Given the description of an element on the screen output the (x, y) to click on. 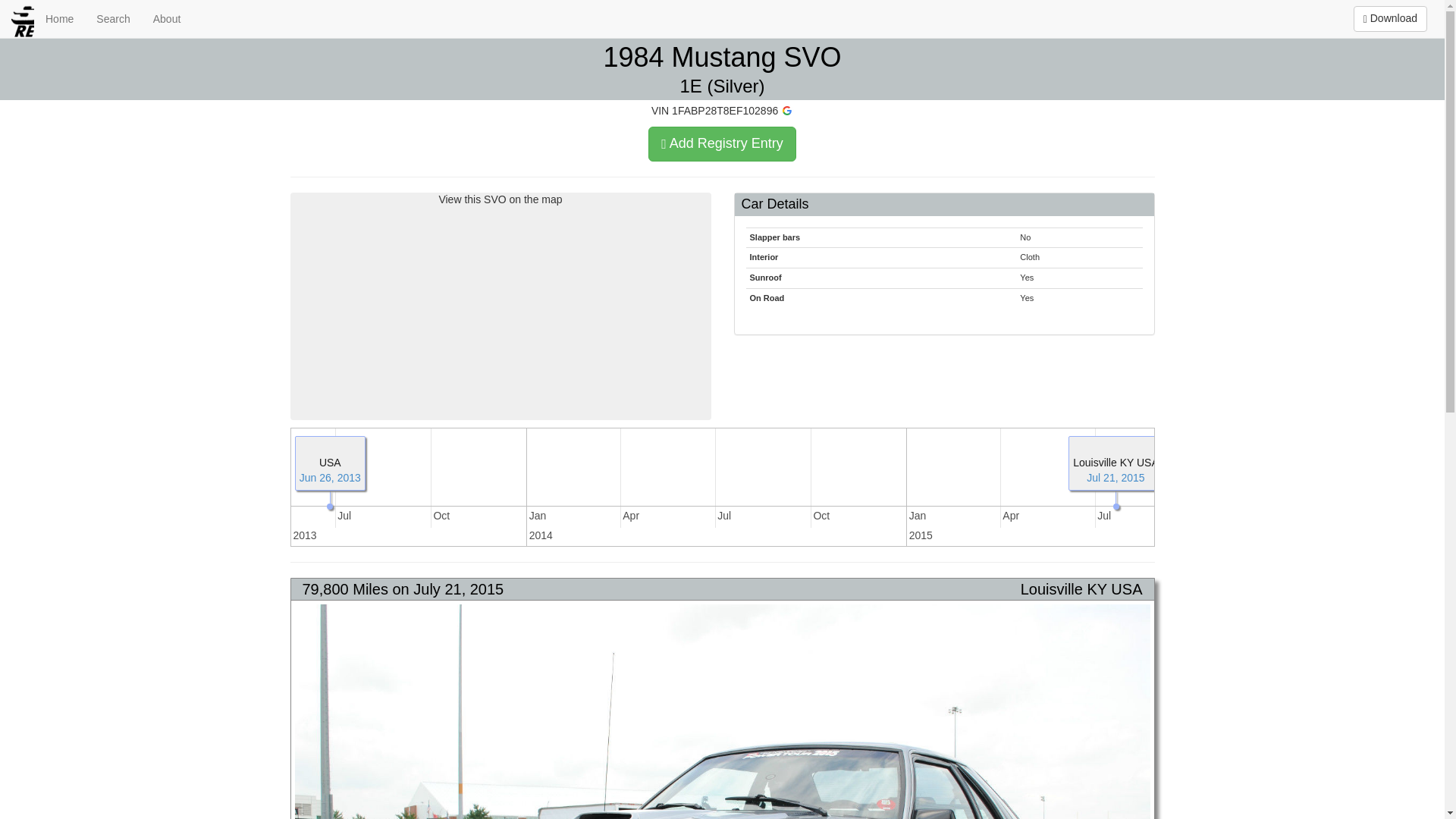
About (166, 18)
Search (112, 18)
Add Registry Entry (721, 143)
Jul 21, 2015 (1115, 477)
Search Google (786, 110)
Download (1390, 18)
Jun 26, 2013 (330, 477)
Home (58, 18)
